Given the description of an element on the screen output the (x, y) to click on. 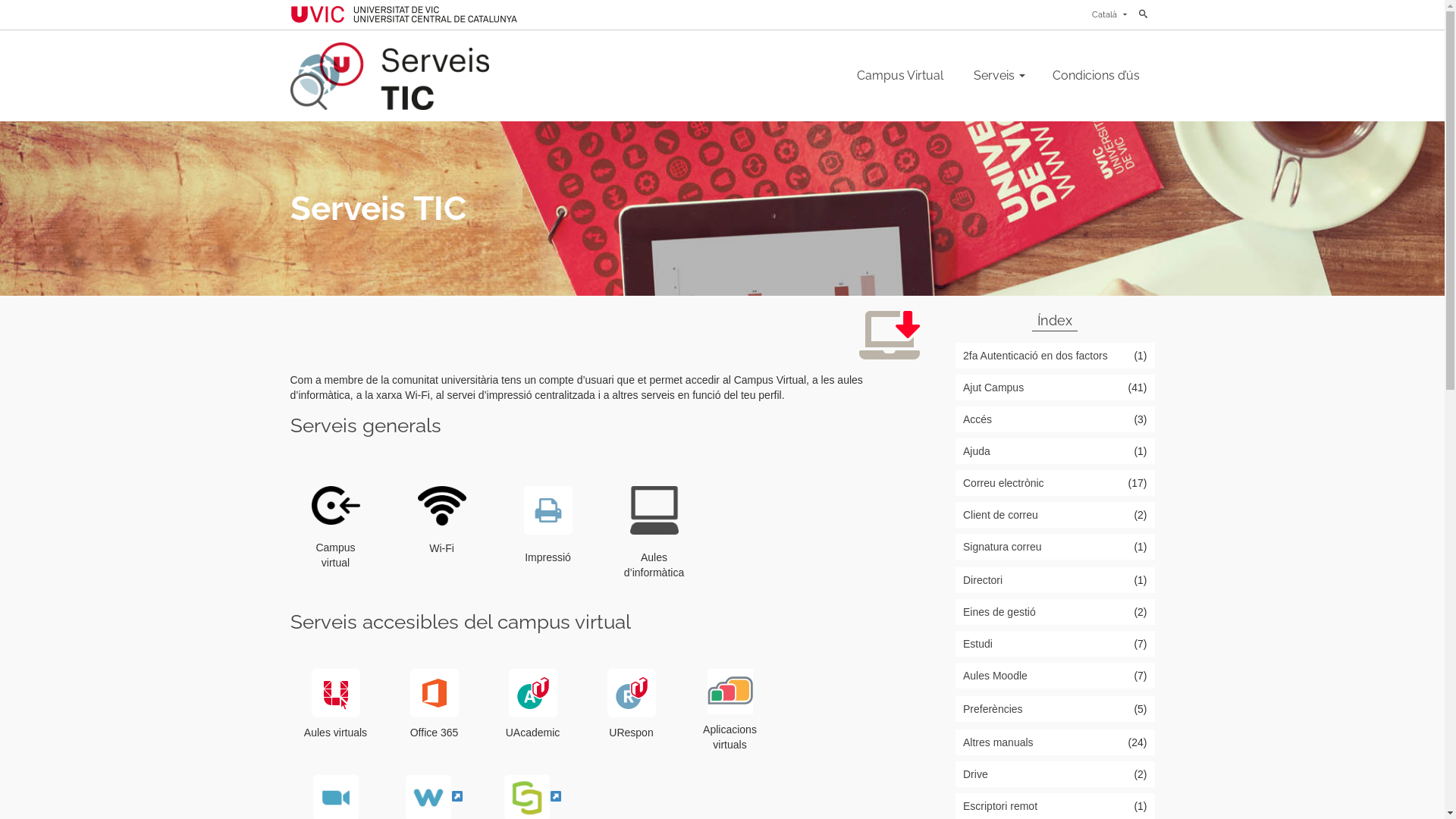
Aules Moodle Element type: text (1054, 675)
Serveis Element type: text (997, 75)
Directori Element type: text (1054, 580)
Campus Virtual Element type: text (899, 75)
Drive Element type: text (1054, 774)
Signatura correu Element type: text (1054, 546)
Altres manuals Element type: text (1054, 742)
Ajuda Element type: text (1054, 451)
Client de correu Element type: text (1054, 514)
Ajut Campus Element type: text (1054, 387)
Estudi Element type: text (1054, 643)
